Given the description of an element on the screen output the (x, y) to click on. 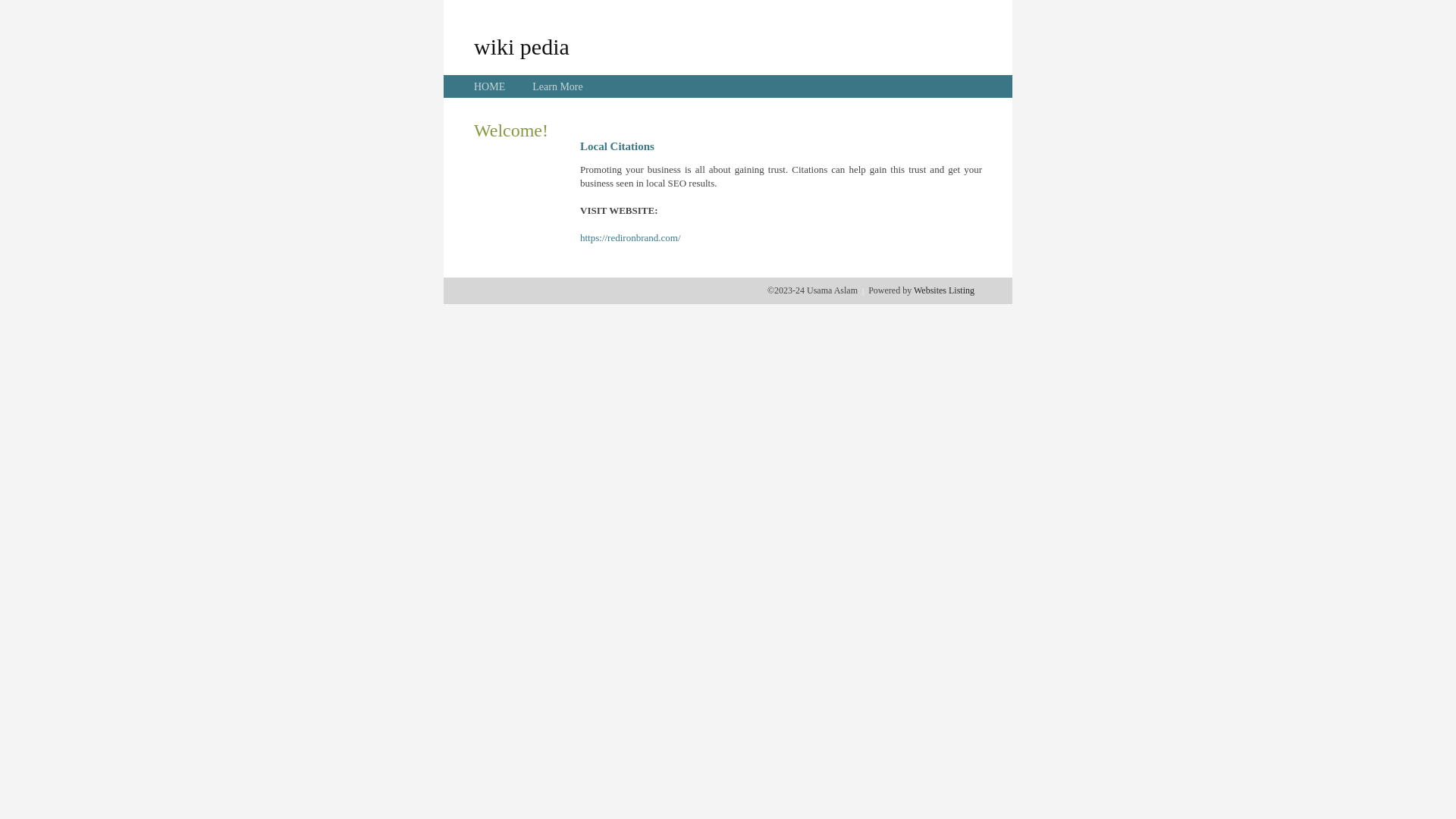
Learn More Element type: text (557, 86)
Websites Listing Element type: text (943, 290)
wiki pedia Element type: text (521, 46)
HOME Element type: text (489, 86)
https://redironbrand.com/ Element type: text (630, 237)
